Given the description of an element on the screen output the (x, y) to click on. 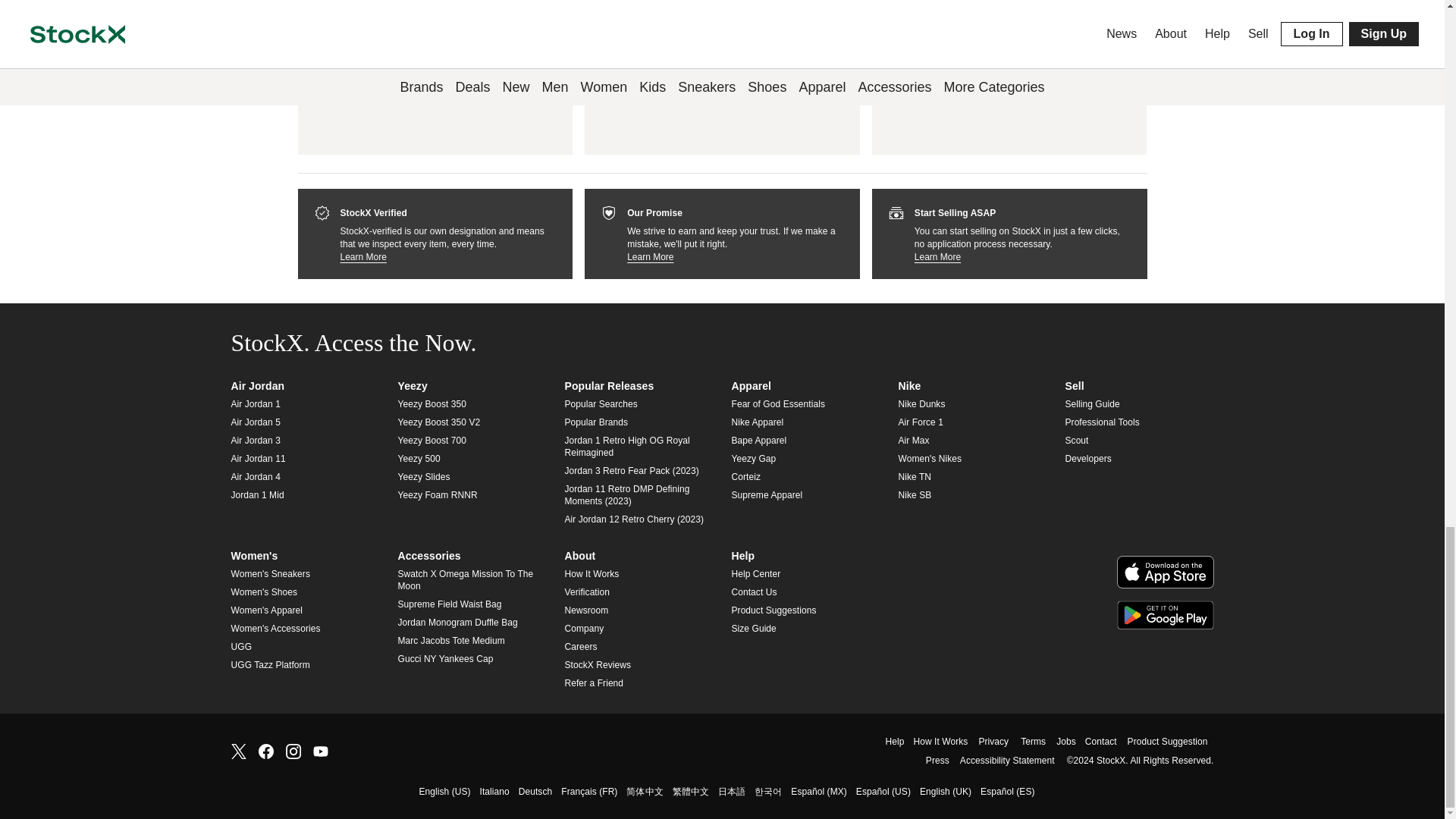
Instagram (292, 749)
YouTube (320, 749)
android (1164, 614)
ios (1164, 572)
Facebook (265, 749)
Twitter (238, 749)
